Given the description of an element on the screen output the (x, y) to click on. 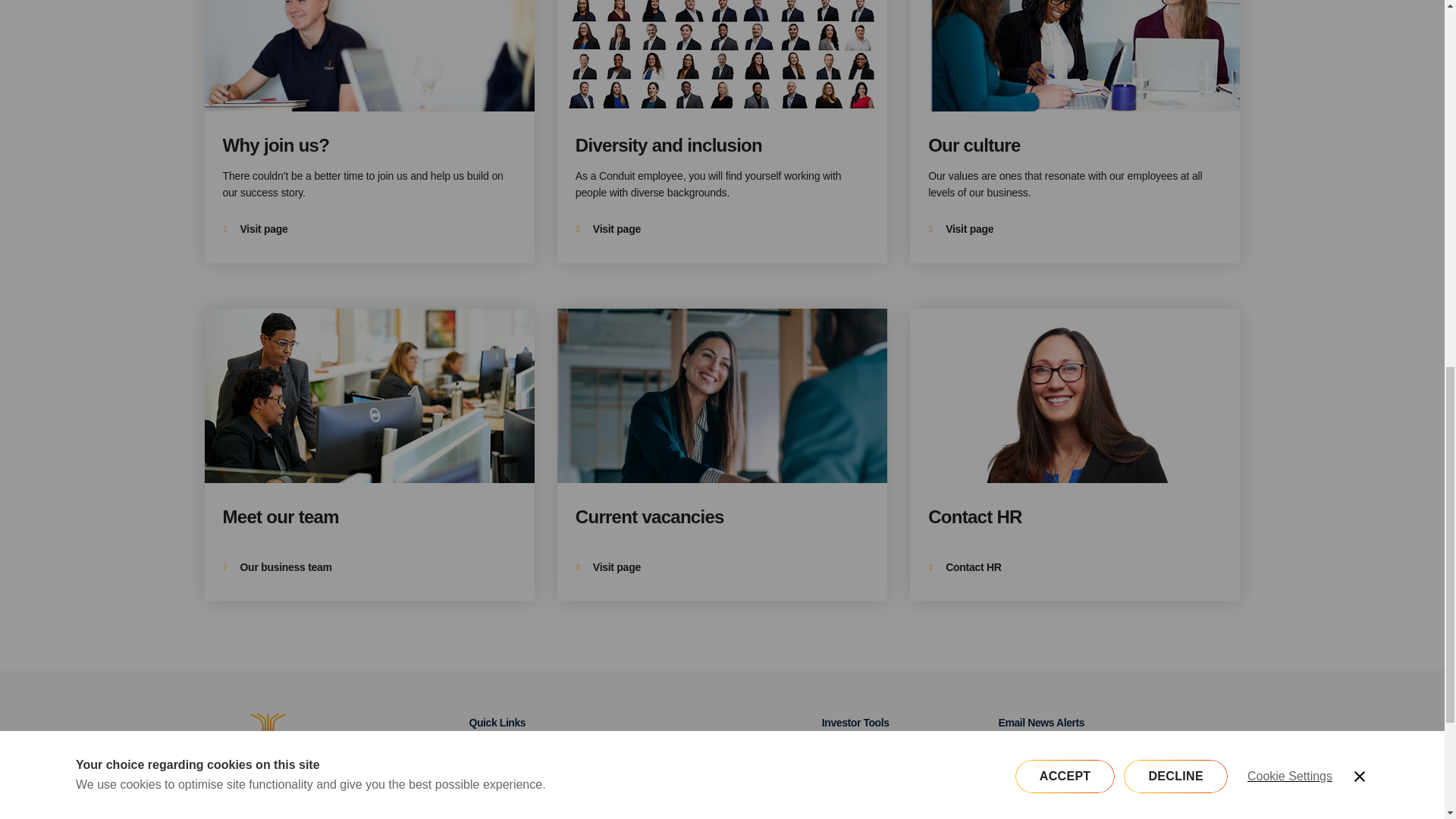
Visit page (721, 131)
Our business team (369, 454)
Visit page (369, 131)
Visit page (608, 228)
Our business team (276, 566)
Visit page (1075, 131)
Visit page (254, 228)
Visit page (608, 566)
Visit page (960, 228)
Contact HR (1075, 454)
